Given the description of an element on the screen output the (x, y) to click on. 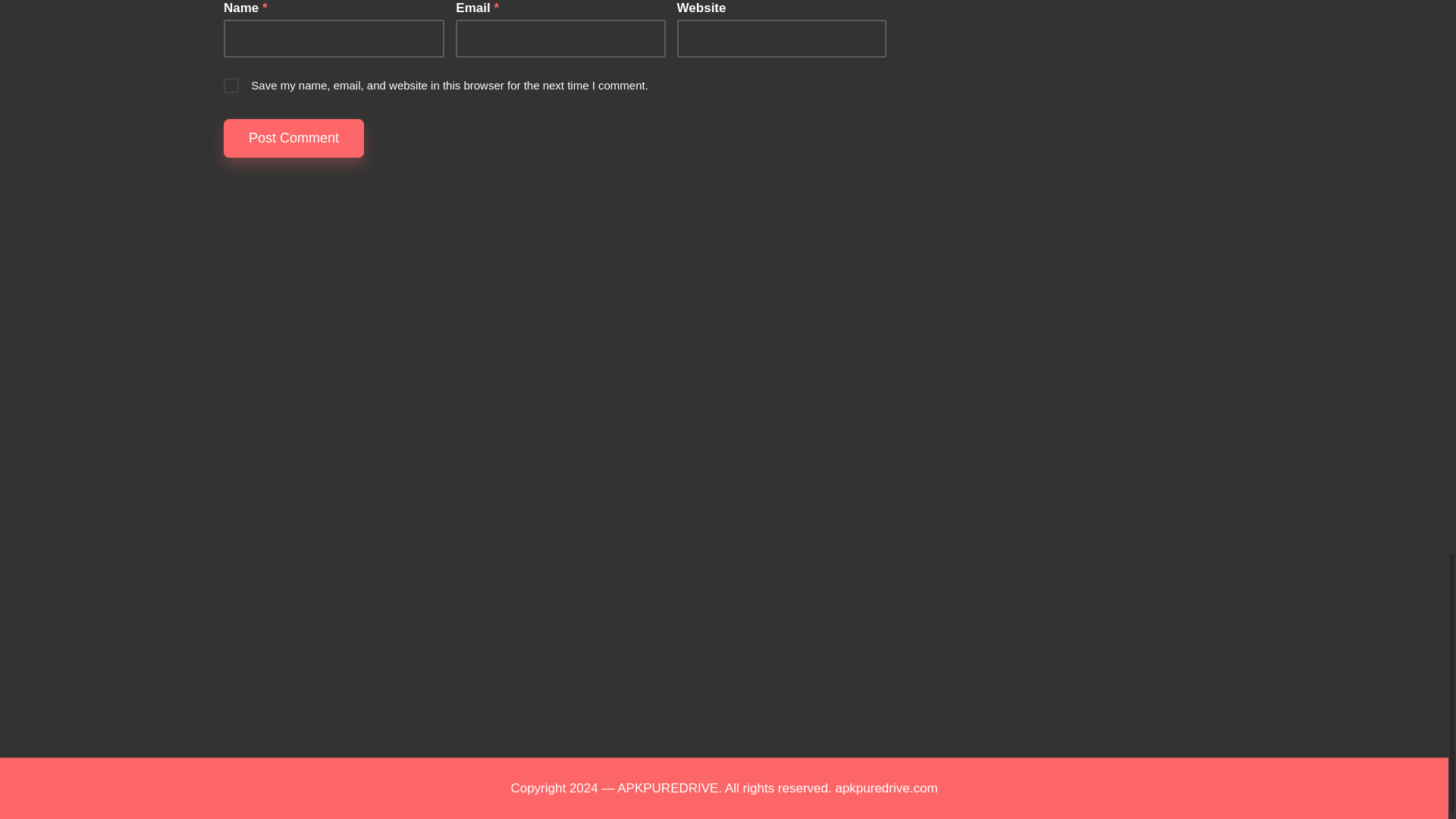
Post Comment (294, 138)
yes (231, 85)
Post Comment (294, 138)
